Given the description of an element on the screen output the (x, y) to click on. 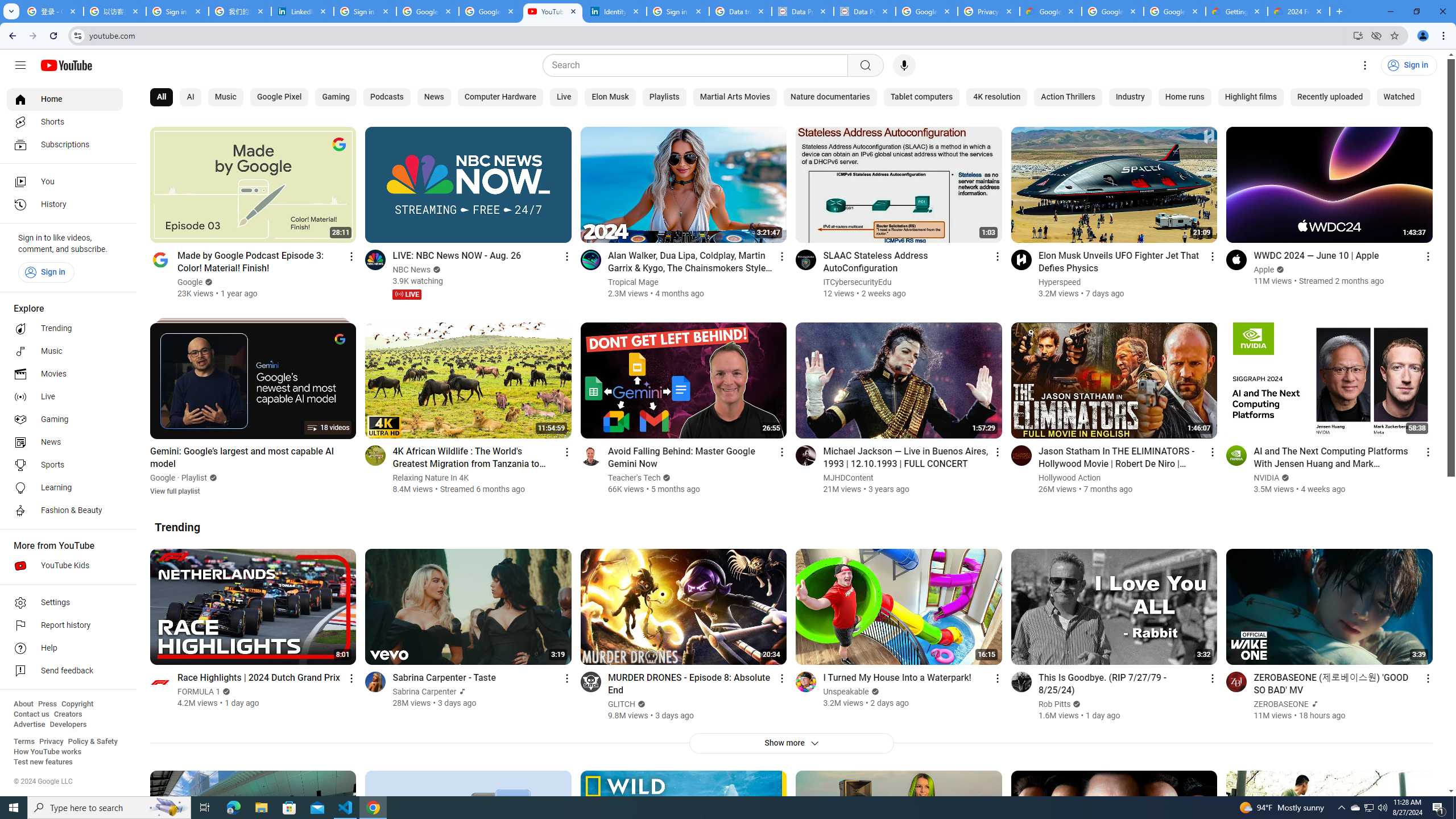
Hyperspeed (1059, 282)
Data Privacy Framework (864, 11)
LIVE: NBC News NOW - Aug. 26 by NBC News 61,506 views (457, 255)
Tablet computers (921, 97)
Official Artist Channel (1313, 704)
Advertise (29, 724)
Home runs (1184, 97)
News (433, 97)
Martial Arts Movies (735, 97)
ITCybersecurityEdu (857, 282)
